Given the description of an element on the screen output the (x, y) to click on. 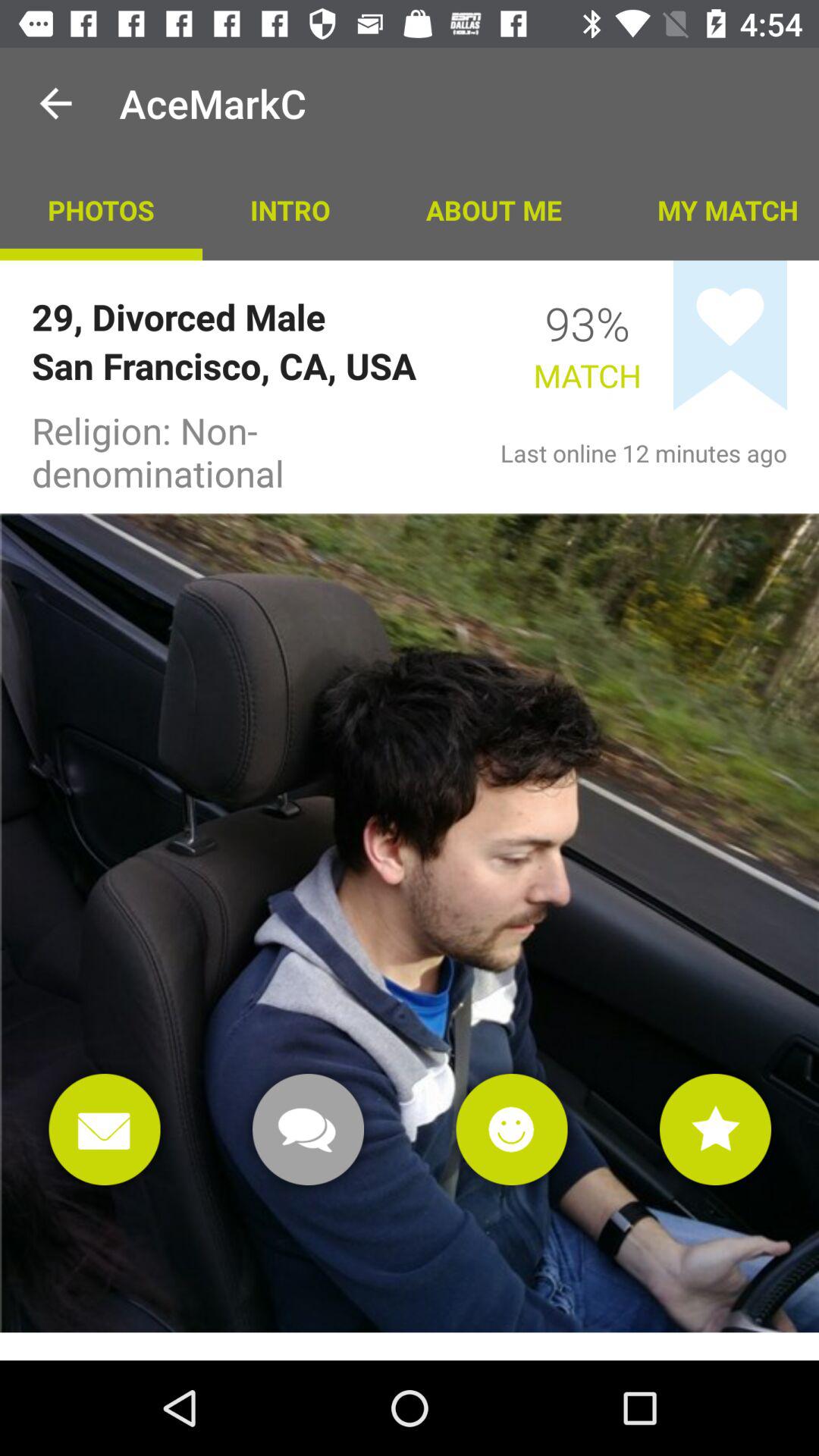
open box to write message or check email (104, 1129)
